Given the description of an element on the screen output the (x, y) to click on. 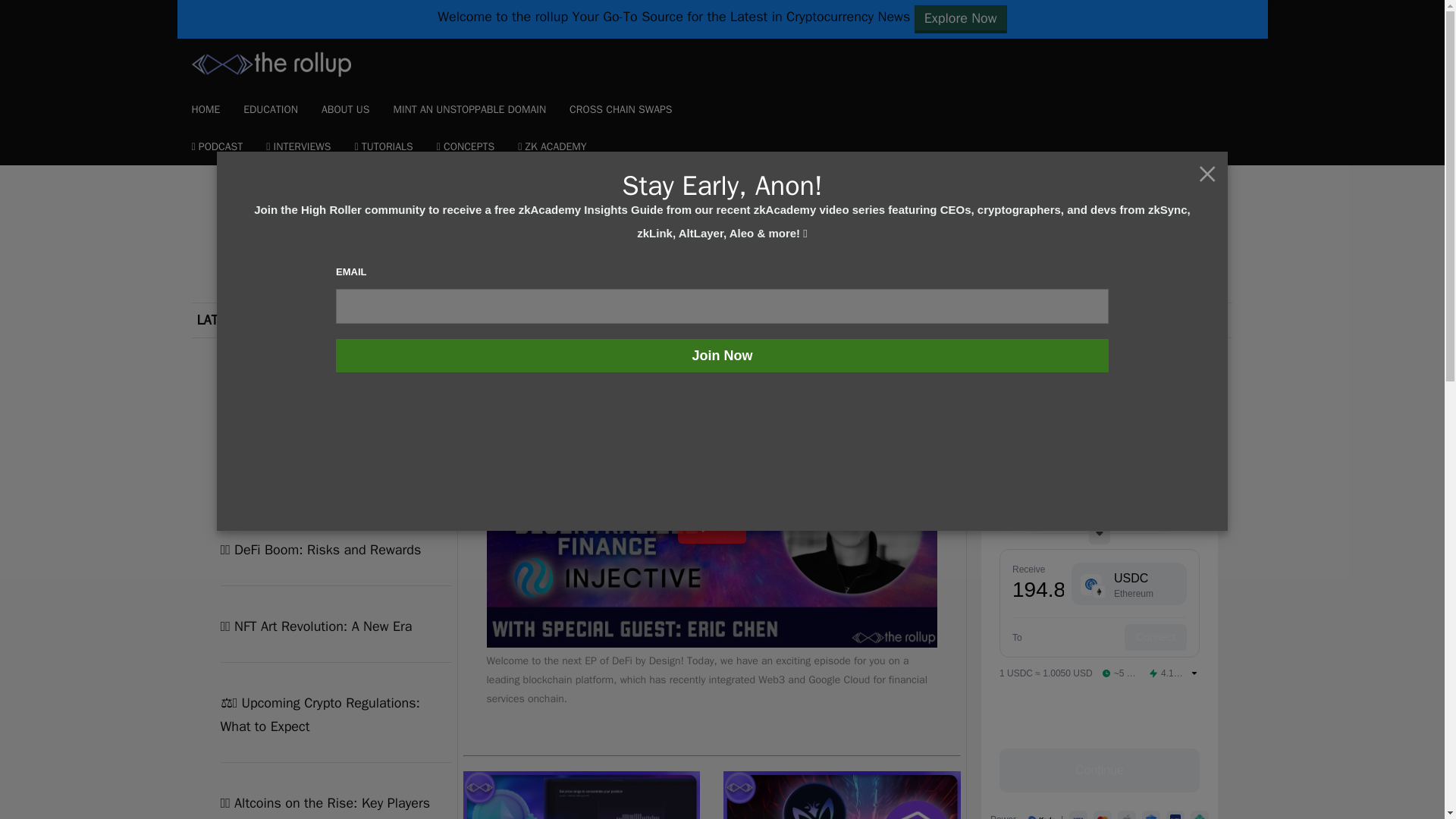
EDUCATION (270, 108)
ABOUT US (345, 108)
Join Now (722, 355)
CROSS CHAIN SWAPS (620, 108)
Join Now (722, 355)
Explore Now (960, 18)
MINT AN UNSTOPPABLE DOMAIN (469, 108)
